Given the description of an element on the screen output the (x, y) to click on. 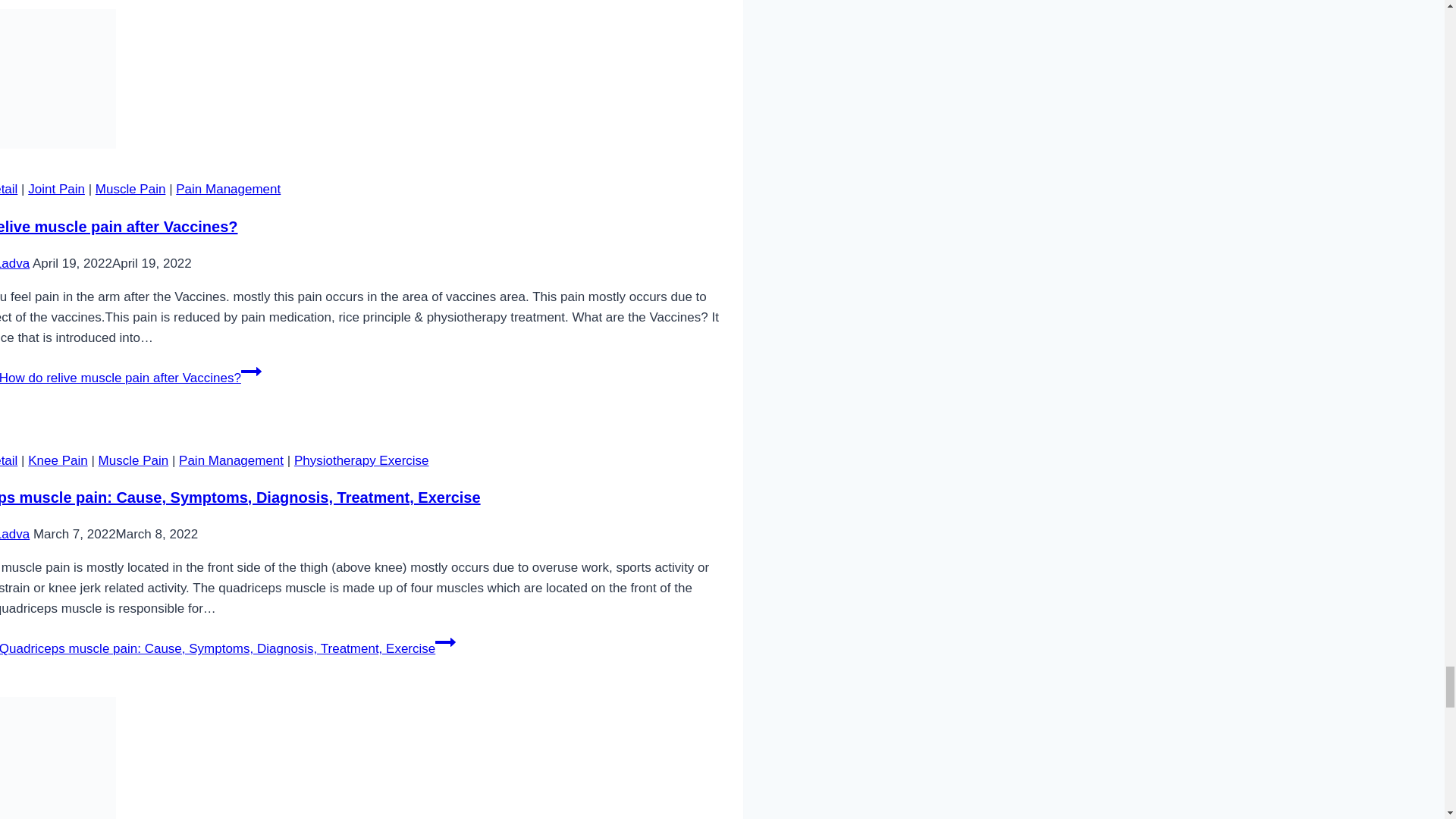
Continue (251, 371)
Continue (445, 641)
